Given the description of an element on the screen output the (x, y) to click on. 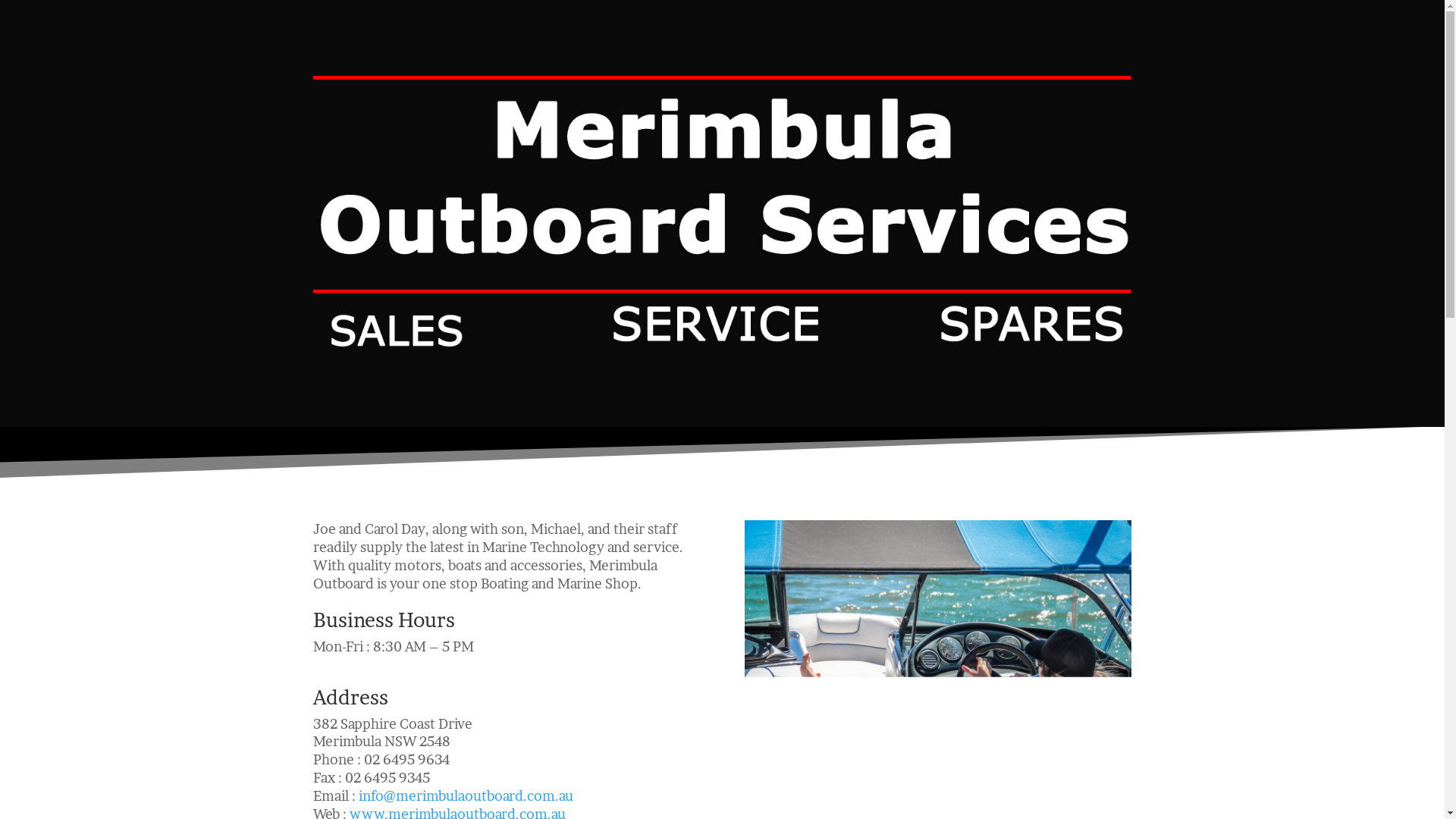
info@merimbulaoutboard.com.au Element type: text (464, 795)
